Given the description of an element on the screen output the (x, y) to click on. 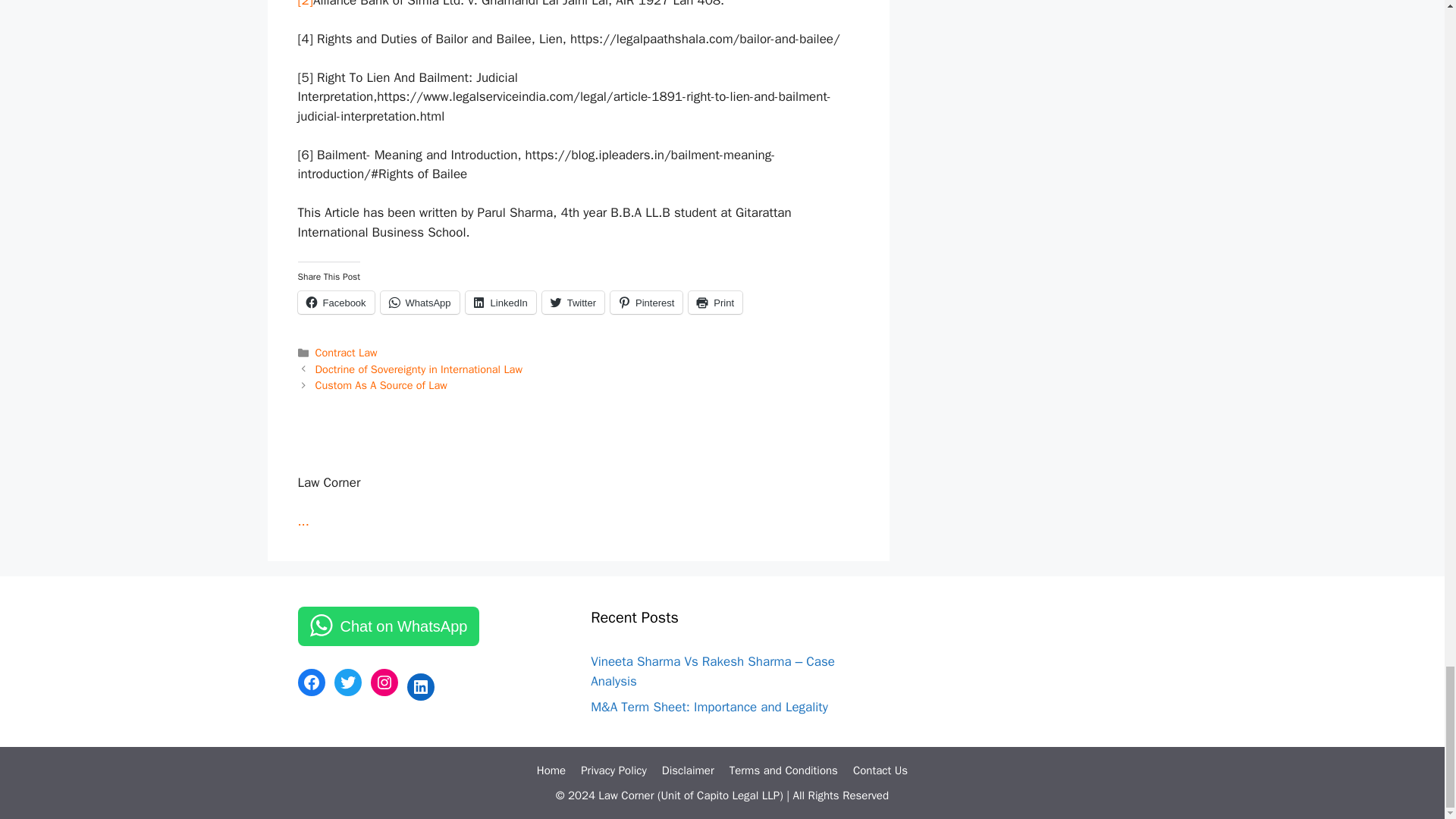
Click to share on Facebook (335, 302)
Click to print (715, 302)
Click to share on Pinterest (646, 302)
Click to share on WhatsApp (420, 302)
Click to share on LinkedIn (500, 302)
Click to share on Twitter (572, 302)
